Given the description of an element on the screen output the (x, y) to click on. 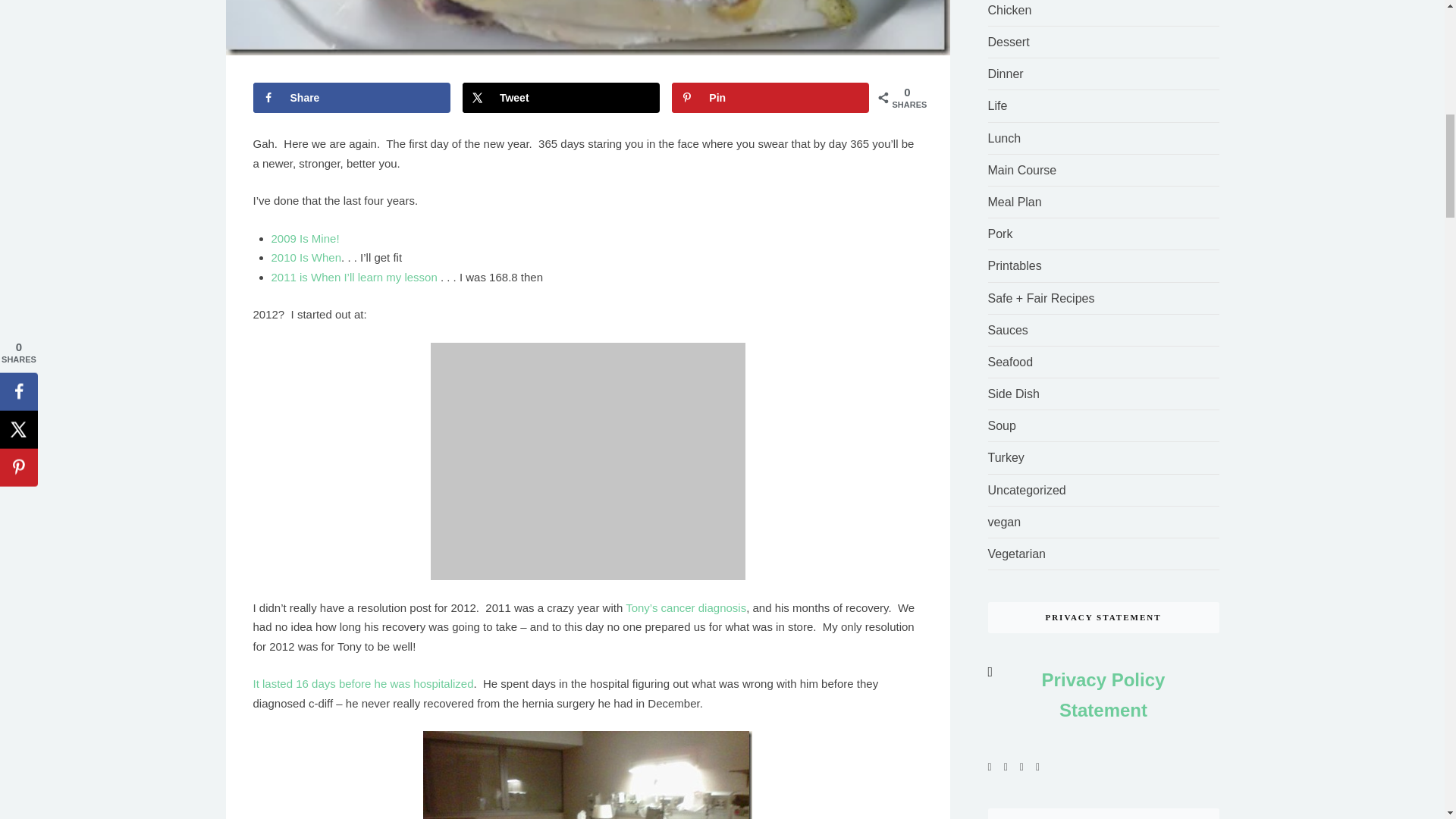
Share on X (561, 97)
Share on Facebook (351, 97)
OLYMPUS DIGITAL CAMERA  (587, 461)
big-room (587, 775)
Will I Get Lean in 2013? (587, 27)
Save to Pinterest (770, 97)
